Given the description of an element on the screen output the (x, y) to click on. 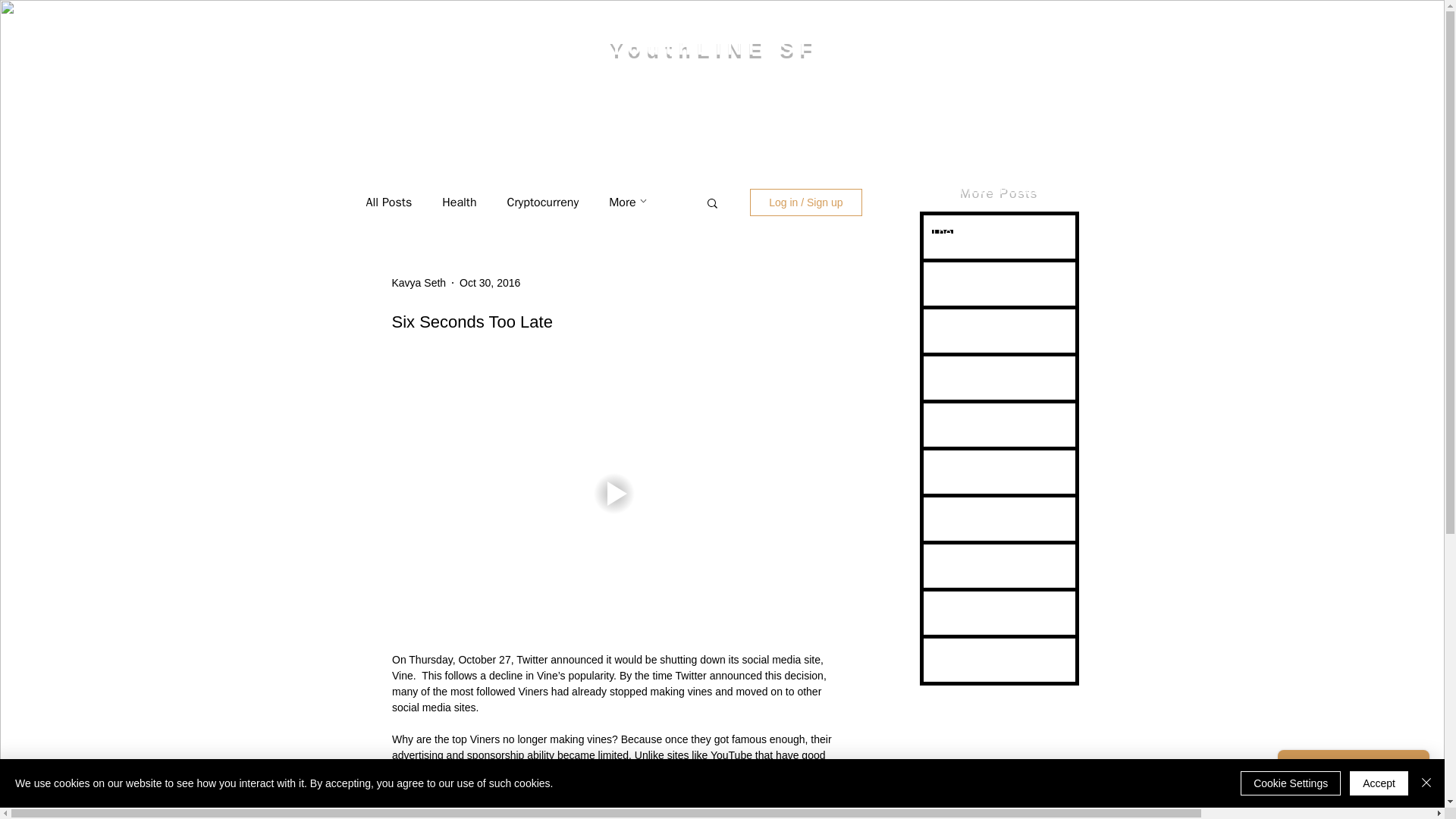
Health (459, 201)
Family Together, We Have It All (997, 667)
PROJECTS (1184, 107)
CONTACT (1364, 107)
Oct 30, 2016 (489, 282)
THE CREW (485, 107)
Kavya Seth (418, 282)
PODCAST (667, 107)
HOME (311, 107)
Coronavirus in Bay Area (997, 376)
